Given the description of an element on the screen output the (x, y) to click on. 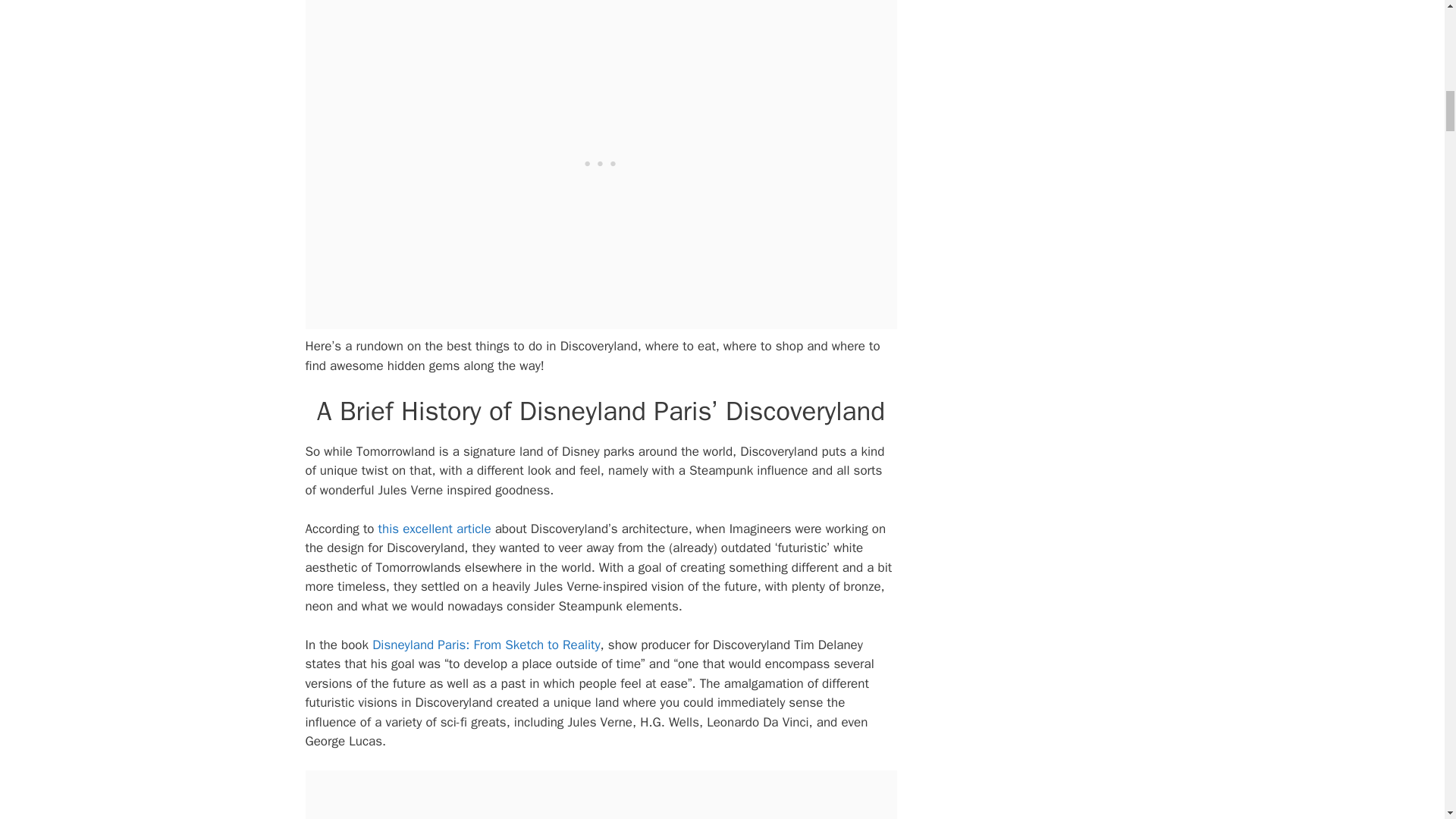
Disneyland Paris: From Sketch to Reality (485, 644)
this excellent article (435, 528)
